Given the description of an element on the screen output the (x, y) to click on. 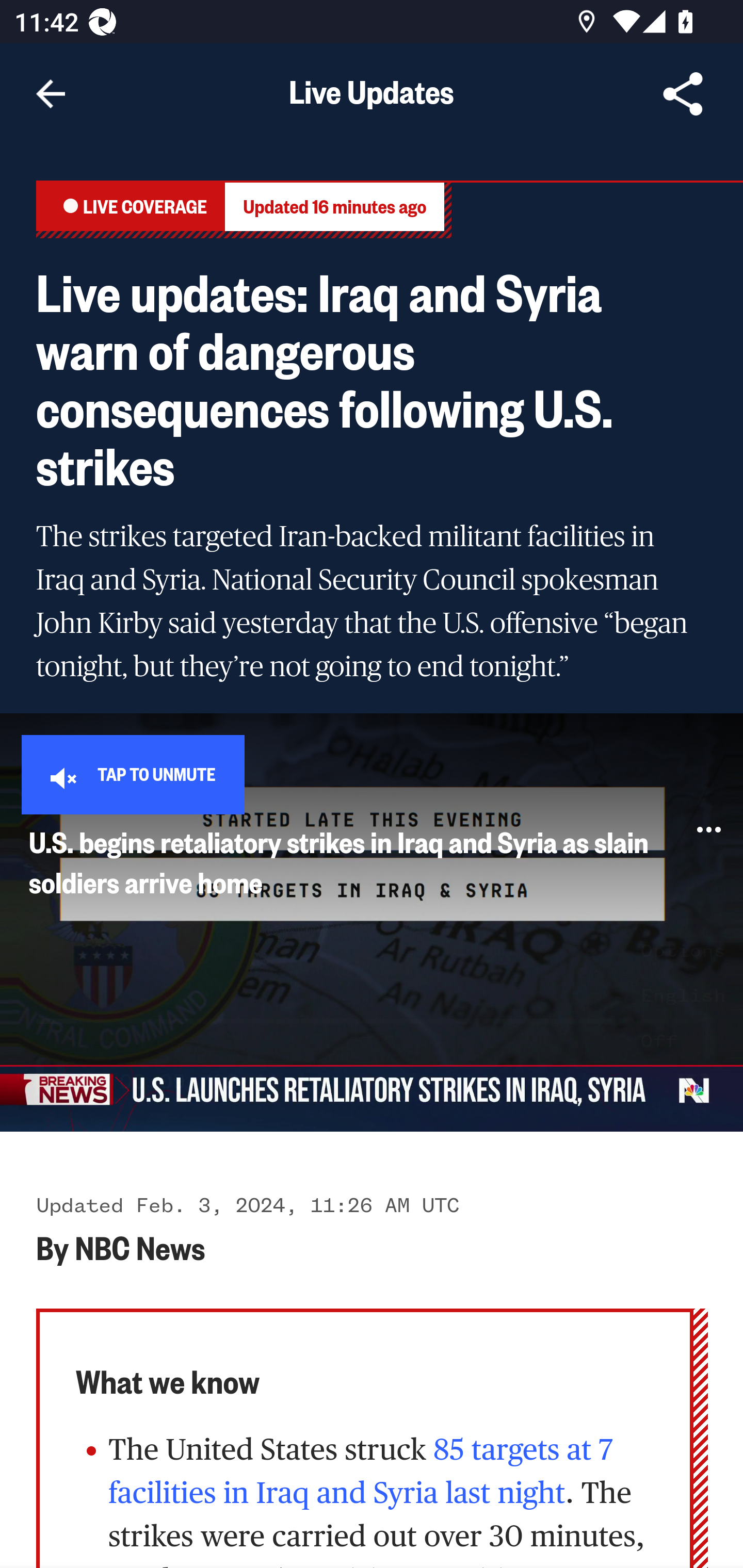
Navigate up (50, 93)
Share Article, button (683, 94)
 TAP TO UNMUTE (133, 773)
